Given the description of an element on the screen output the (x, y) to click on. 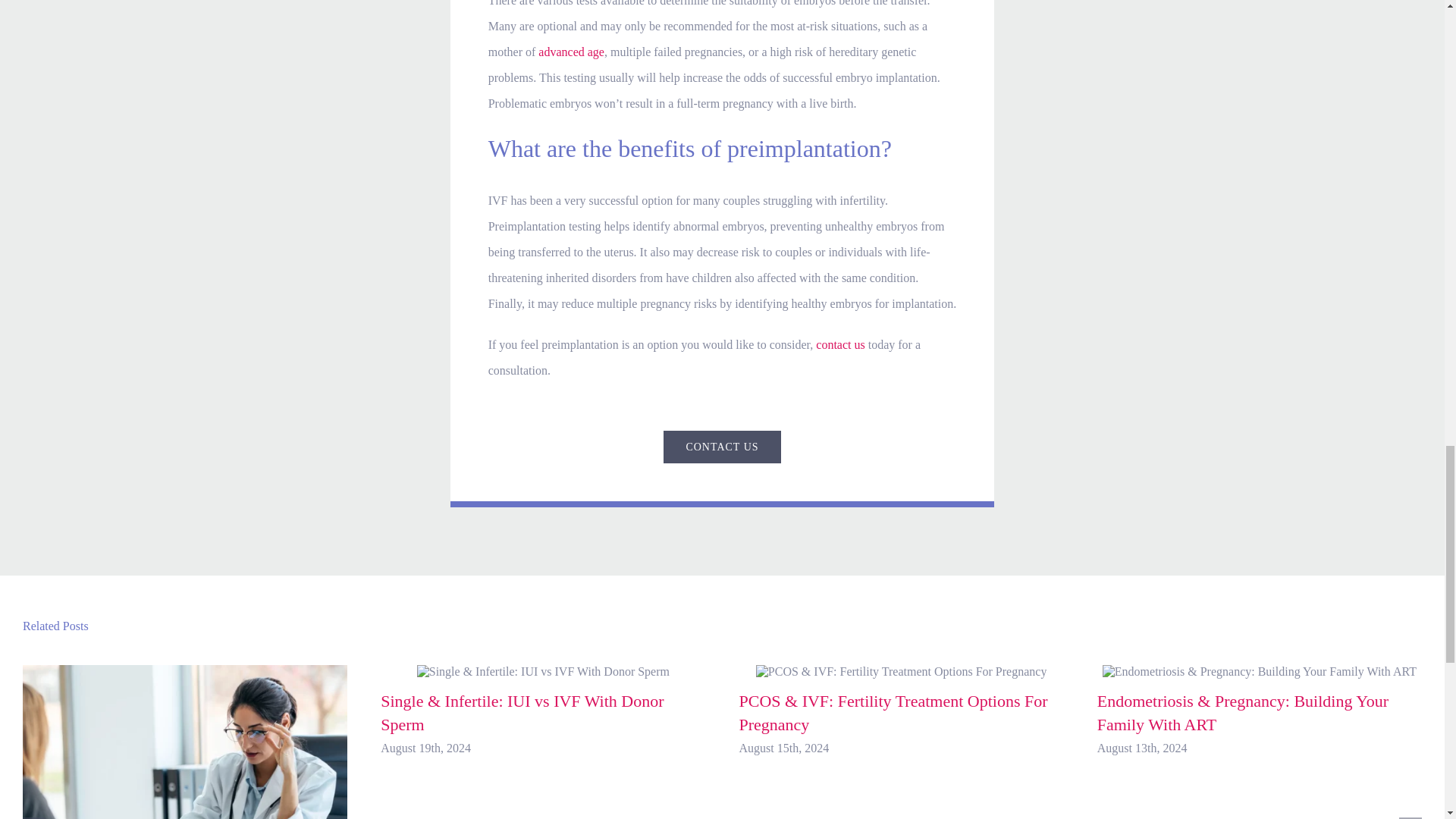
contact us (839, 344)
advanced age (571, 51)
CONTACT US (721, 446)
